Given the description of an element on the screen output the (x, y) to click on. 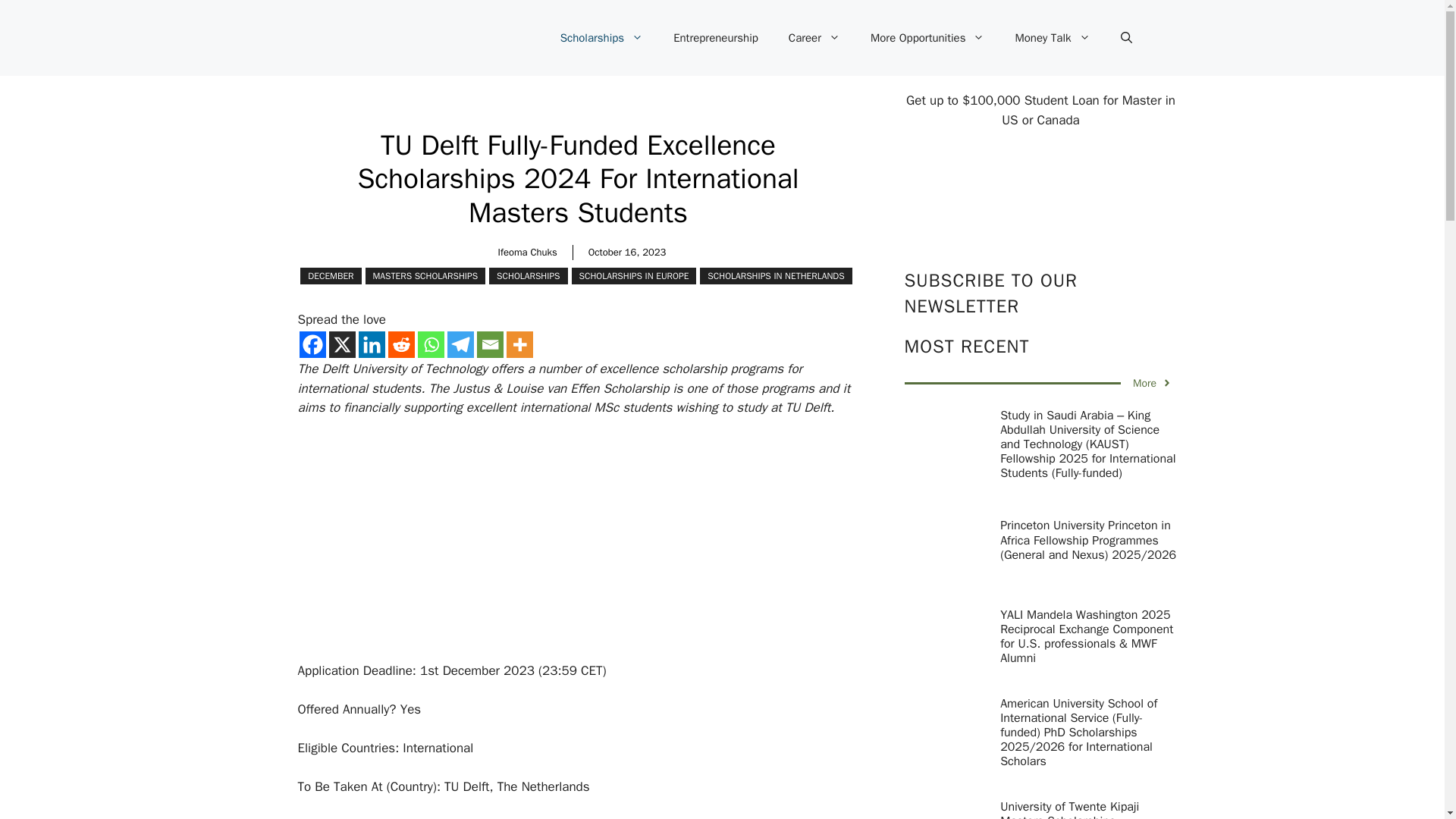
DECEMBER (330, 275)
Money Talk (1051, 37)
More (519, 344)
Career (814, 37)
SCHOLARSHIPS IN EUROPE (634, 275)
Whatsapp (430, 344)
Facebook (311, 344)
Telegram (460, 344)
Scholarships (601, 37)
SCHOLARSHIPS (528, 275)
